Given the description of an element on the screen output the (x, y) to click on. 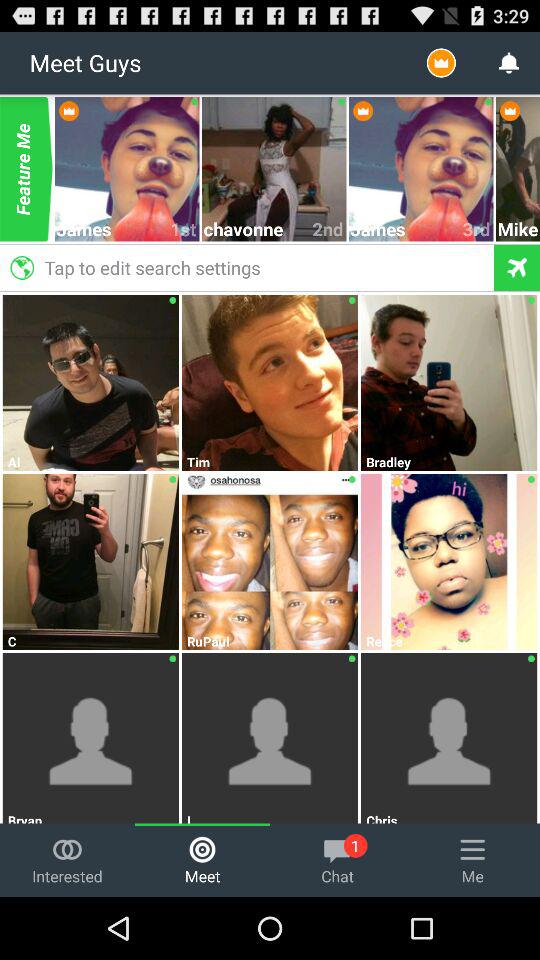
scroll to the chavonne (257, 228)
